Given the description of an element on the screen output the (x, y) to click on. 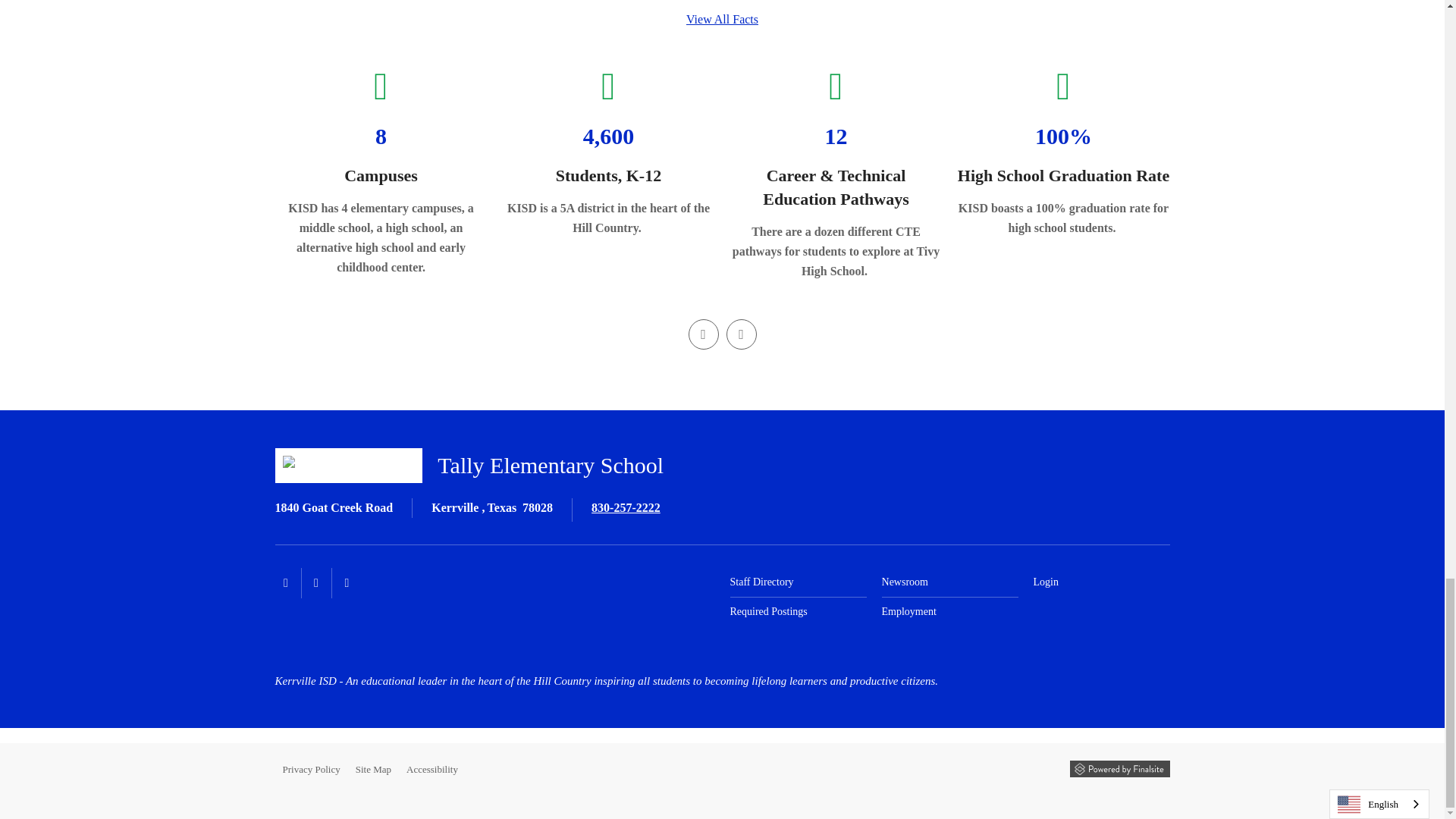
Powered by Finalsite opens in a new window (1118, 768)
